Given the description of an element on the screen output the (x, y) to click on. 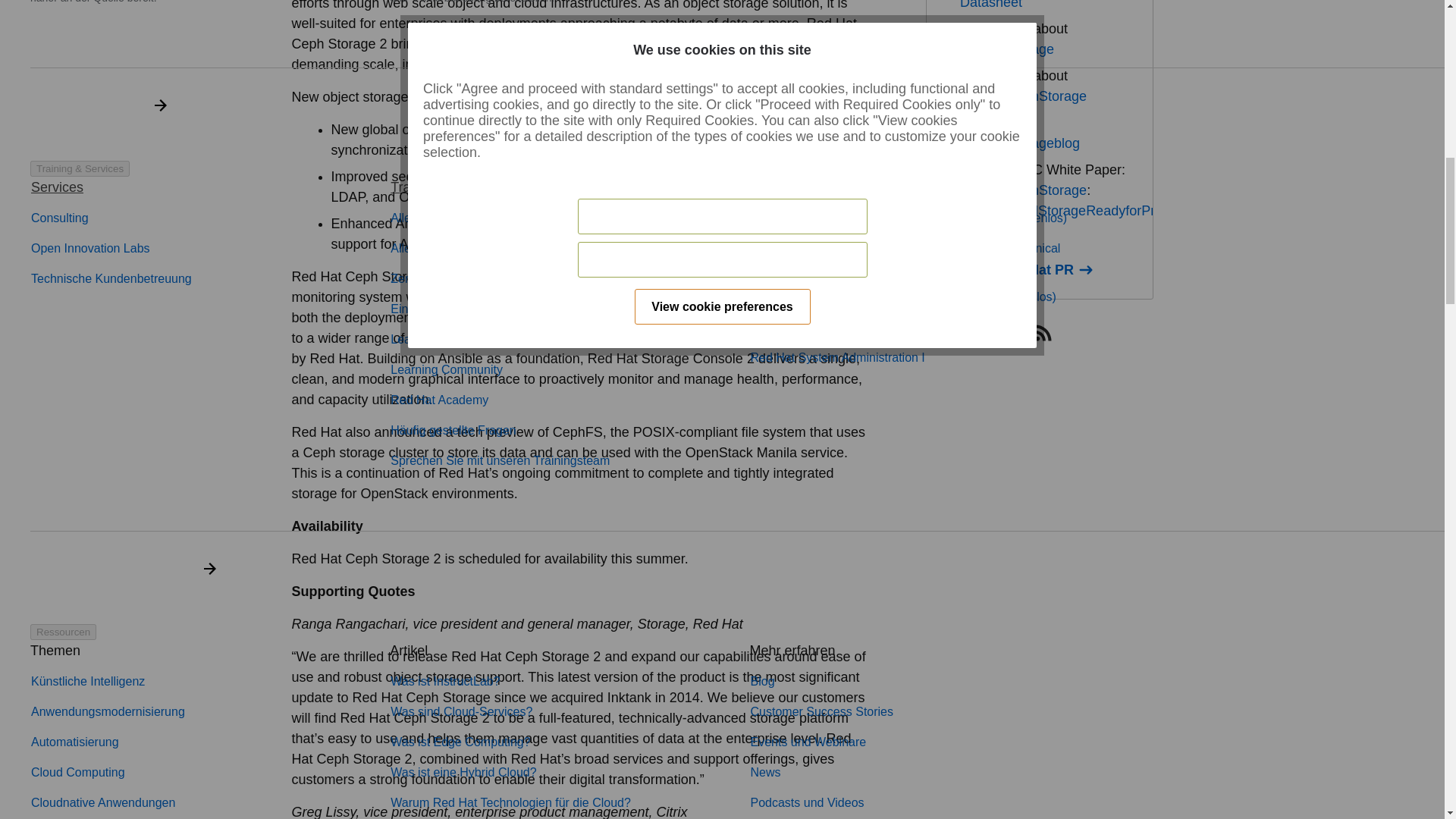
Contact Red Hat PR (1018, 270)
Feed abonnieren (1042, 332)
